Given the description of an element on the screen output the (x, y) to click on. 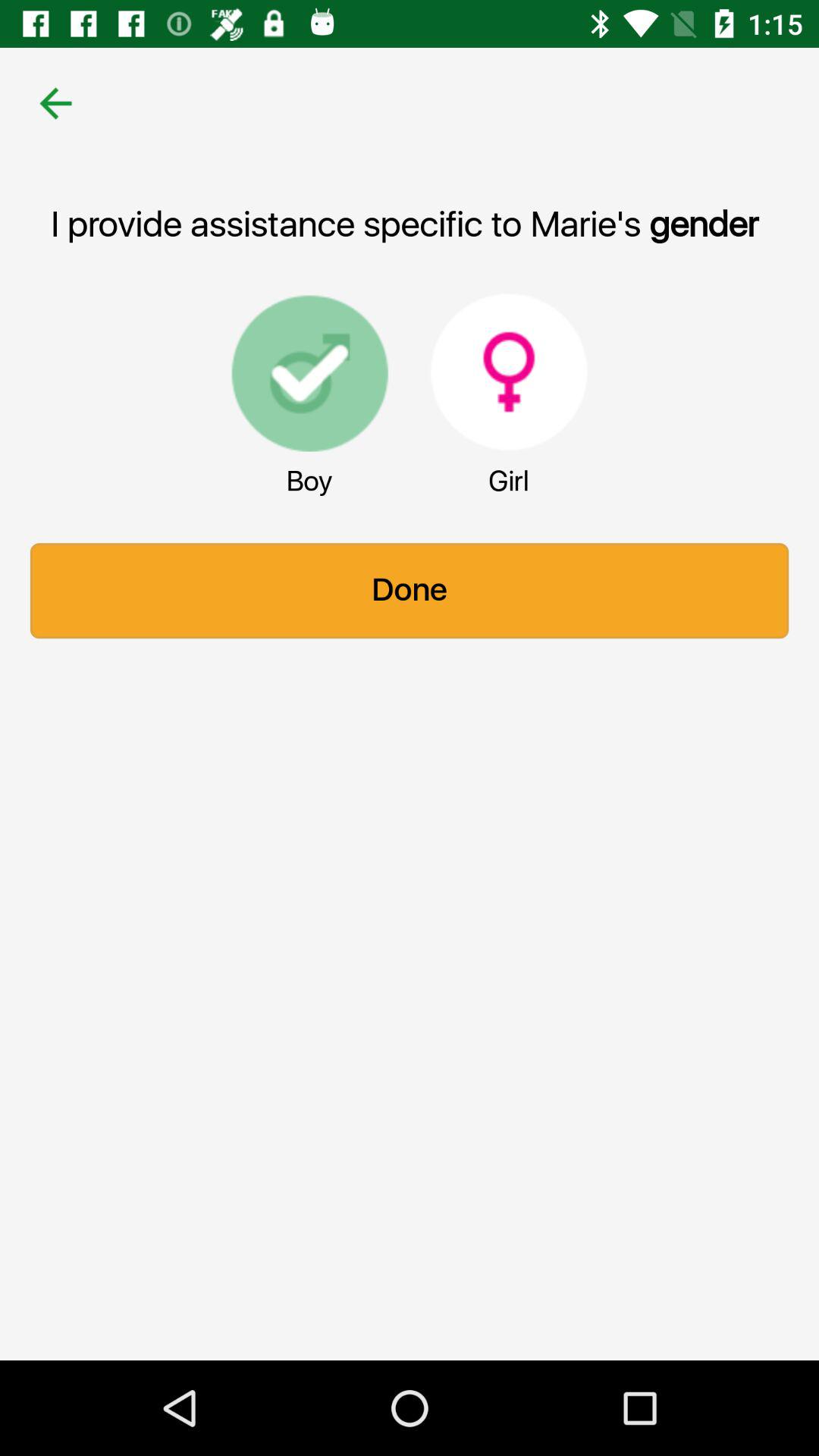
go back (55, 103)
